Given the description of an element on the screen output the (x, y) to click on. 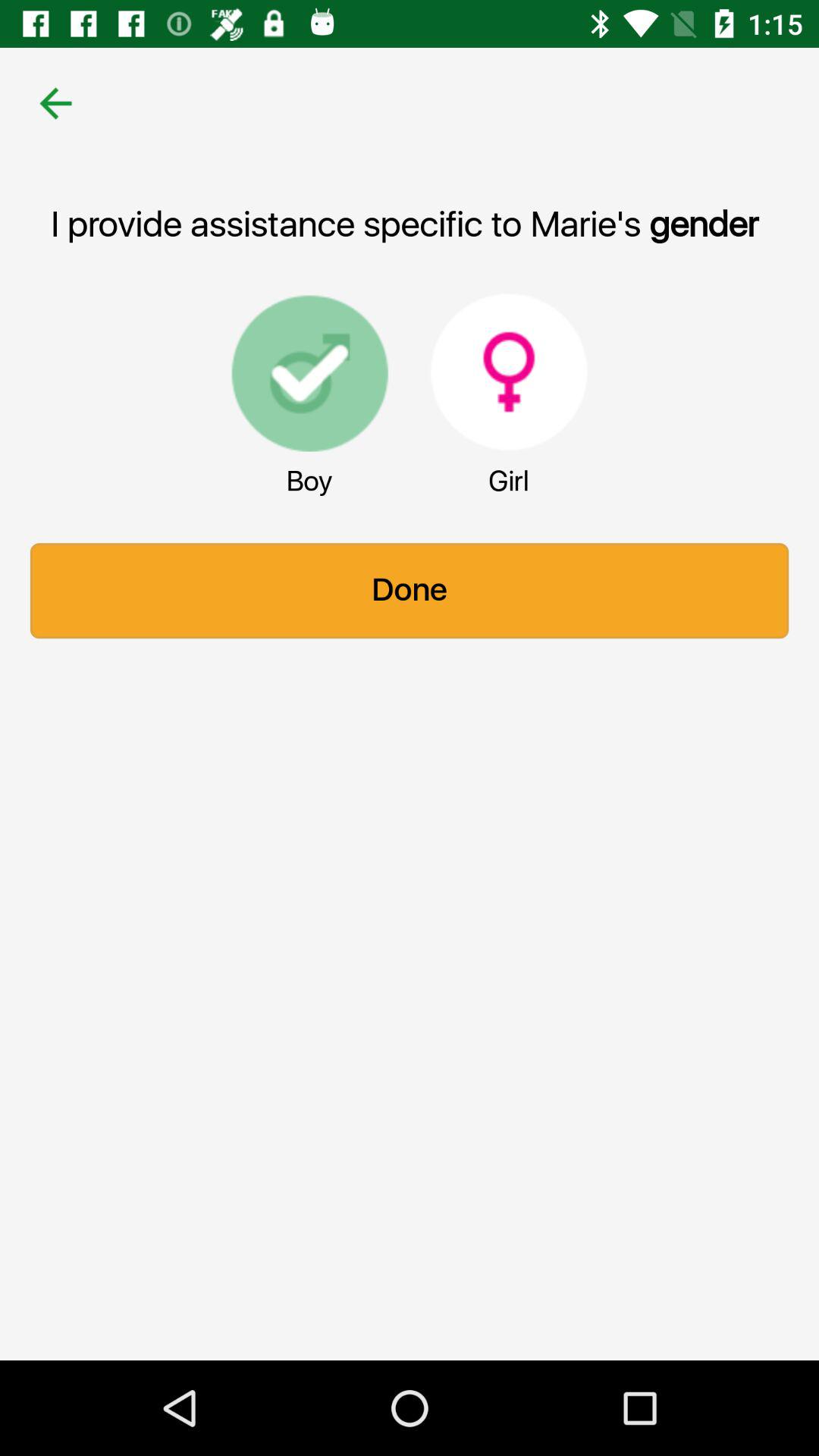
go back (55, 103)
